Given the description of an element on the screen output the (x, y) to click on. 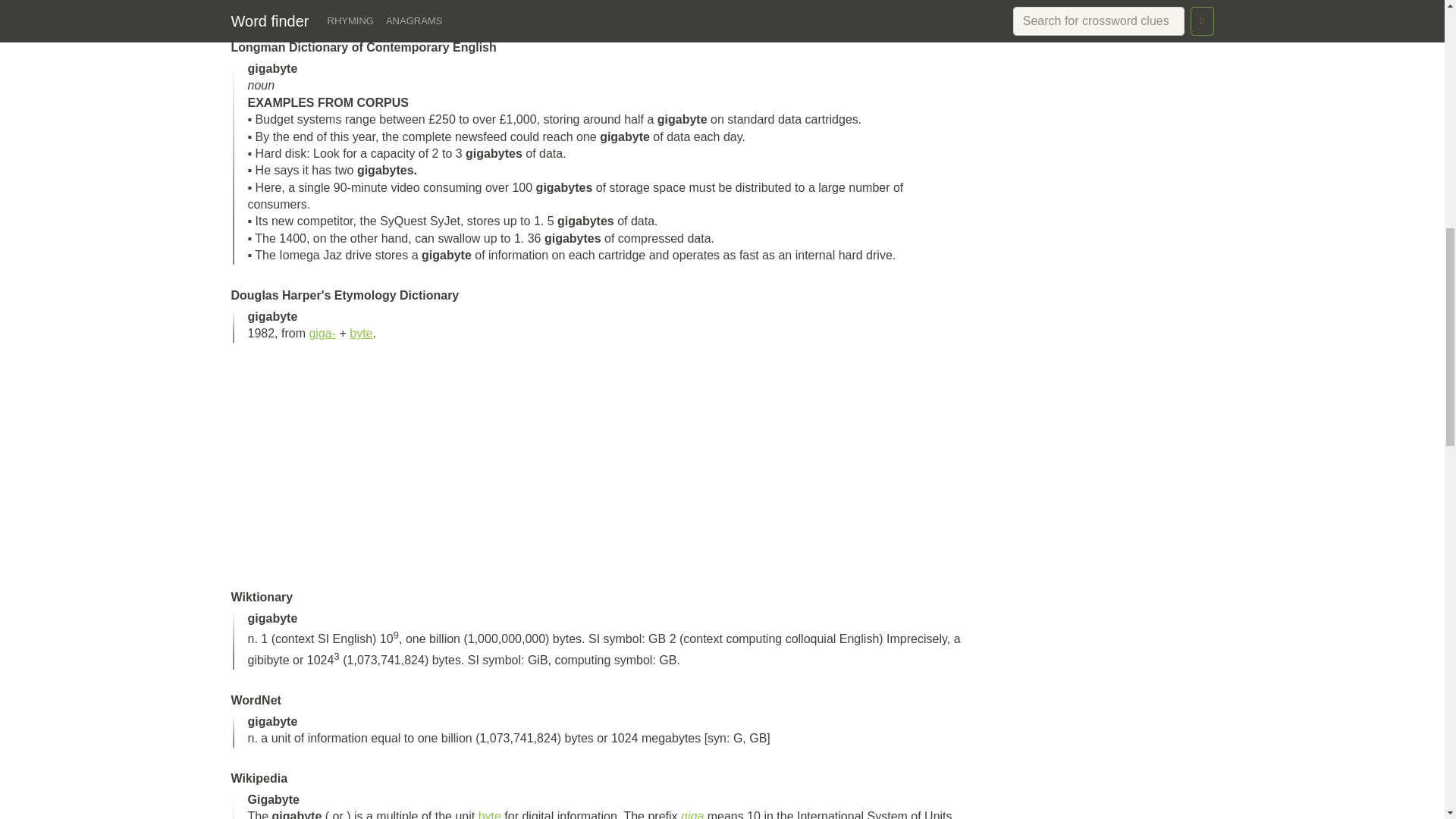
giga- (322, 332)
giga (692, 814)
byte (489, 814)
byte (360, 332)
